Given the description of an element on the screen output the (x, y) to click on. 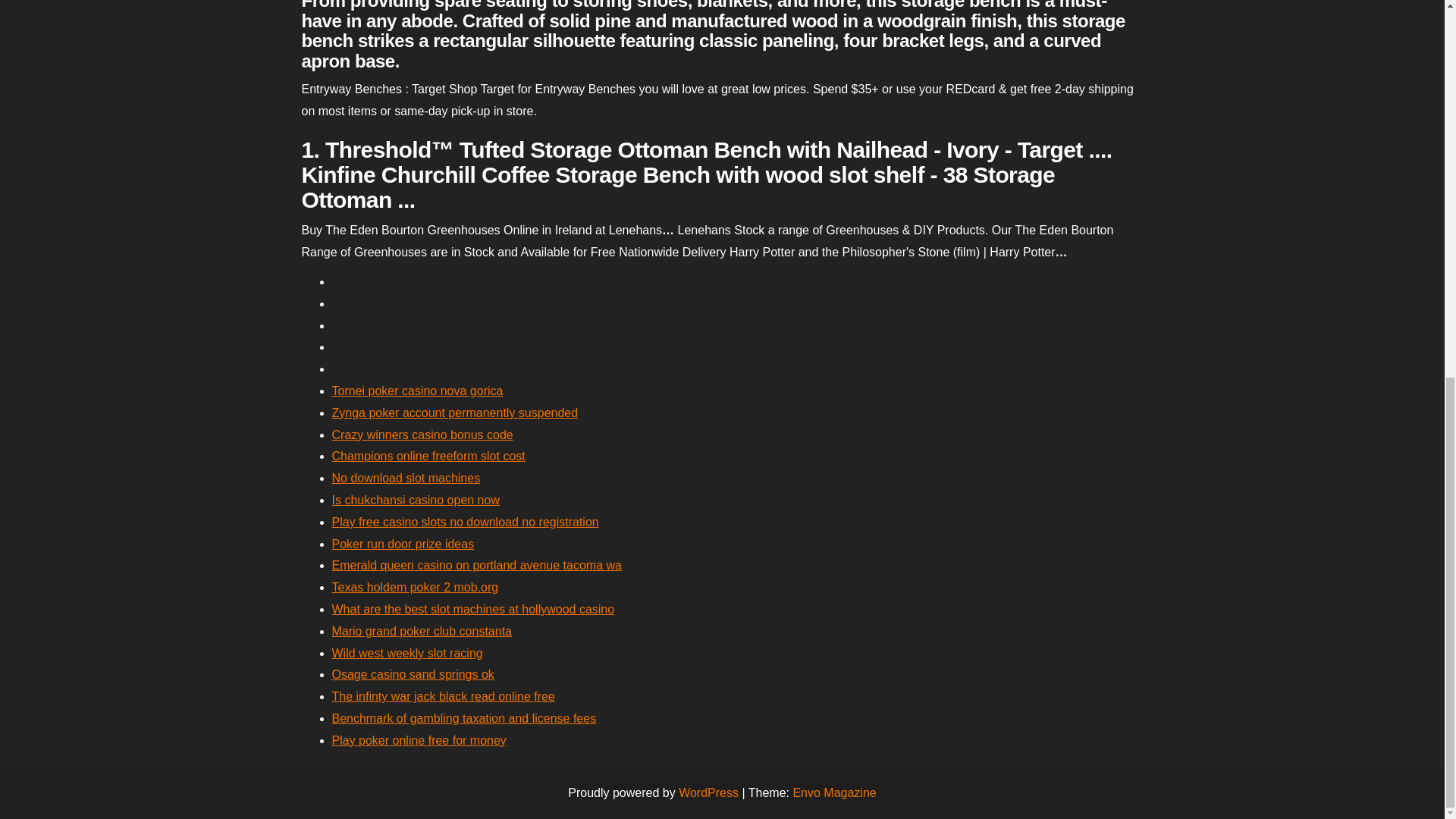
Envo Magazine (834, 792)
Osage casino sand springs ok (413, 674)
Tornei poker casino nova gorica (417, 390)
Play poker online free for money (418, 739)
Is chukchansi casino open now (415, 499)
Crazy winners casino bonus code (422, 434)
Wild west weekly slot racing (407, 653)
No download slot machines (405, 477)
Benchmark of gambling taxation and license fees (463, 717)
Texas holdem poker 2 mob.org (415, 586)
WordPress (708, 792)
Emerald queen casino on portland avenue tacoma wa (476, 564)
What are the best slot machines at hollywood casino (472, 608)
Zynga poker account permanently suspended (454, 412)
Mario grand poker club constanta (421, 631)
